Given the description of an element on the screen output the (x, y) to click on. 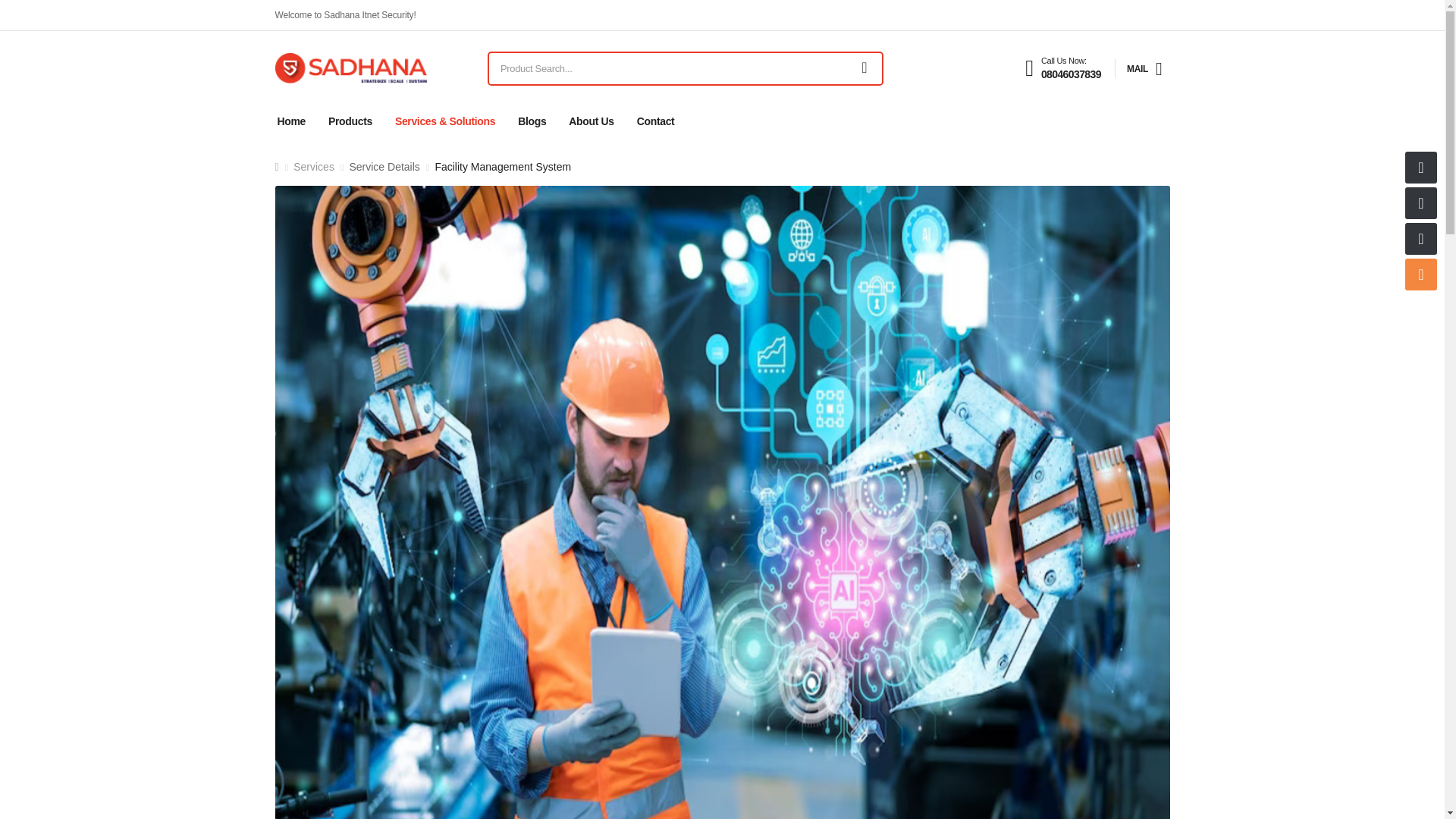
submit-button (863, 68)
MAIL (1143, 68)
Home (291, 121)
Products (1062, 68)
